Given the description of an element on the screen output the (x, y) to click on. 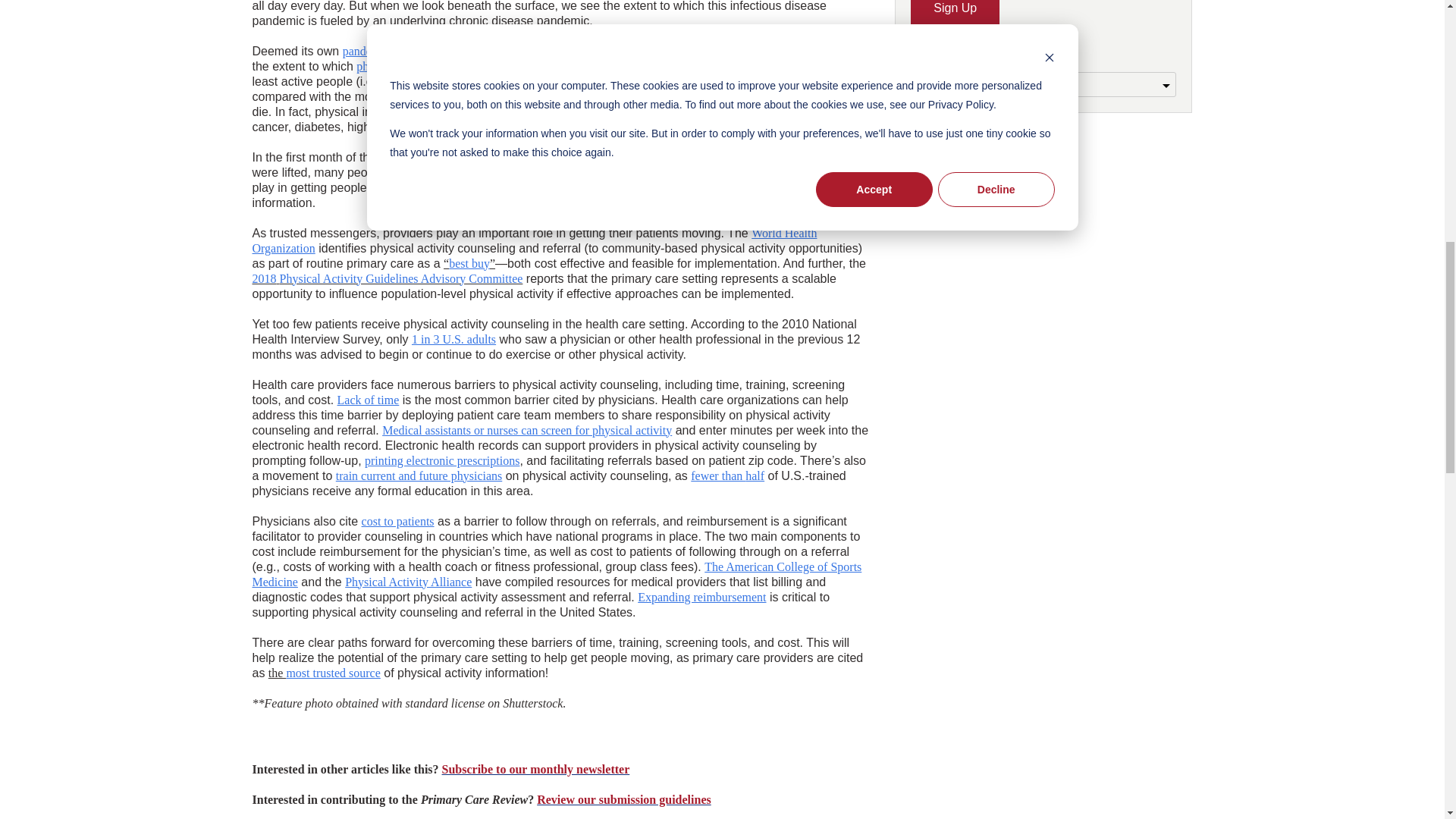
the (619, 186)
Subscribe to our monthly newsletter (536, 768)
fewer than (717, 474)
Research (725, 65)
physical (377, 65)
printing electronic prescriptions (442, 459)
most trusted source (675, 186)
best buy (468, 262)
most trusted source (332, 671)
